Given the description of an element on the screen output the (x, y) to click on. 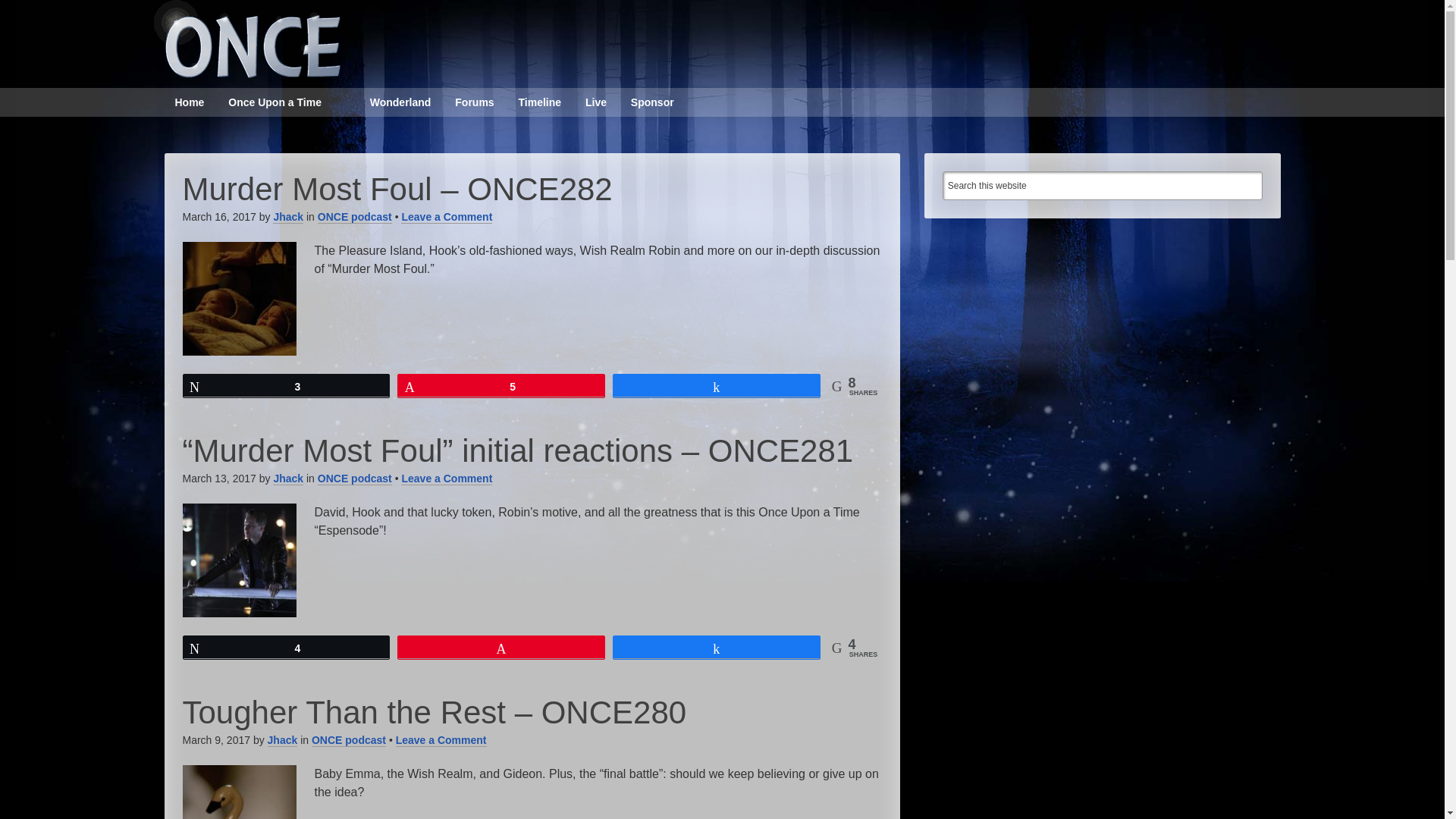
4 (286, 647)
Home (188, 102)
Timeline (540, 102)
Forums (473, 102)
Jhack (287, 216)
ONCE podcast (354, 216)
Leave a Comment (441, 739)
Leave a Comment (446, 478)
ONCE podcast (354, 478)
ONCE - Once Upon a Time podcast (242, 39)
Once Upon a Time (273, 102)
Jhack (287, 478)
5 (500, 385)
Live (596, 102)
